Given the description of an element on the screen output the (x, y) to click on. 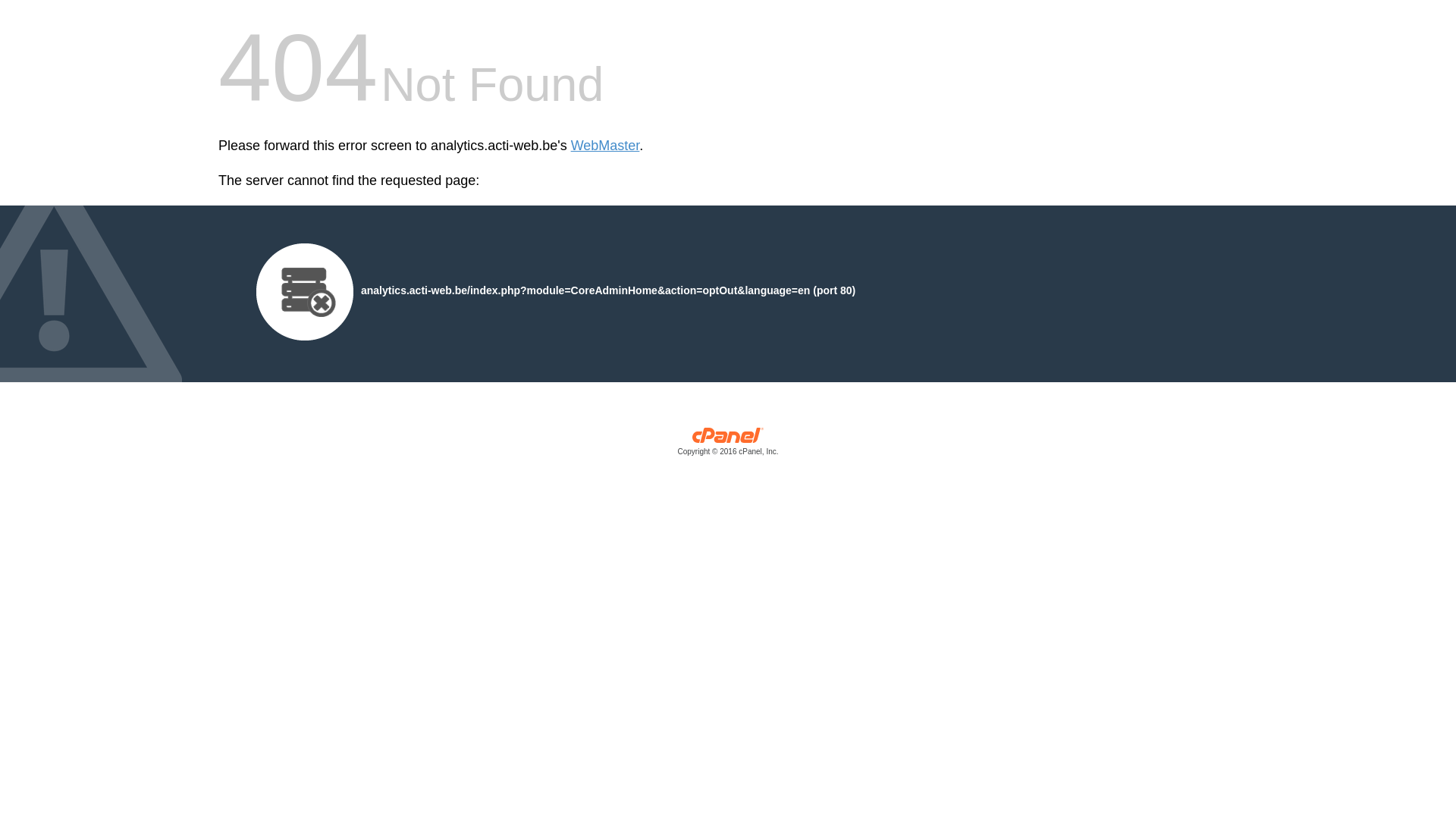
WebMaster Element type: text (605, 145)
